Given the description of an element on the screen output the (x, y) to click on. 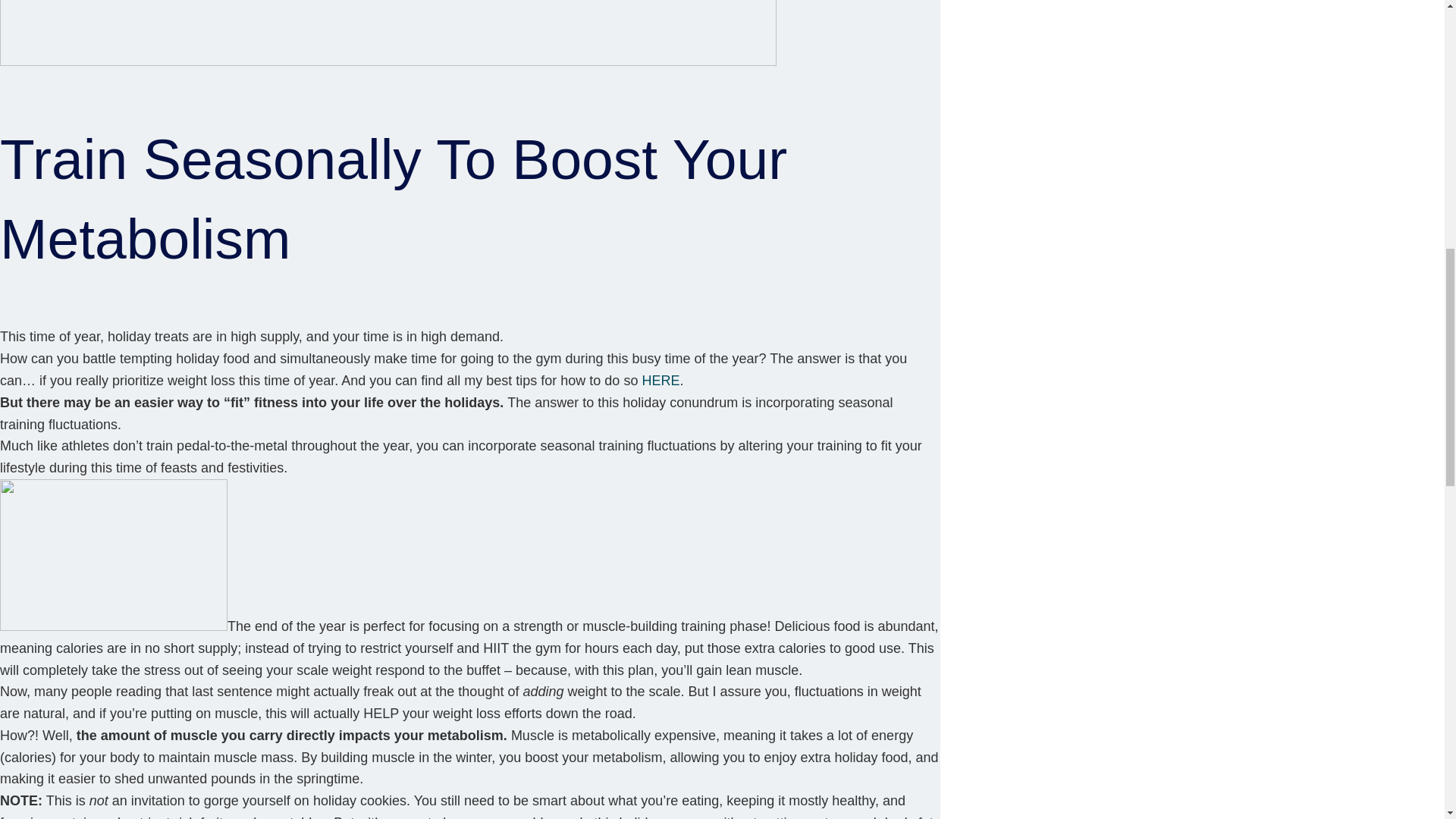
HERE (660, 380)
